Given the description of an element on the screen output the (x, y) to click on. 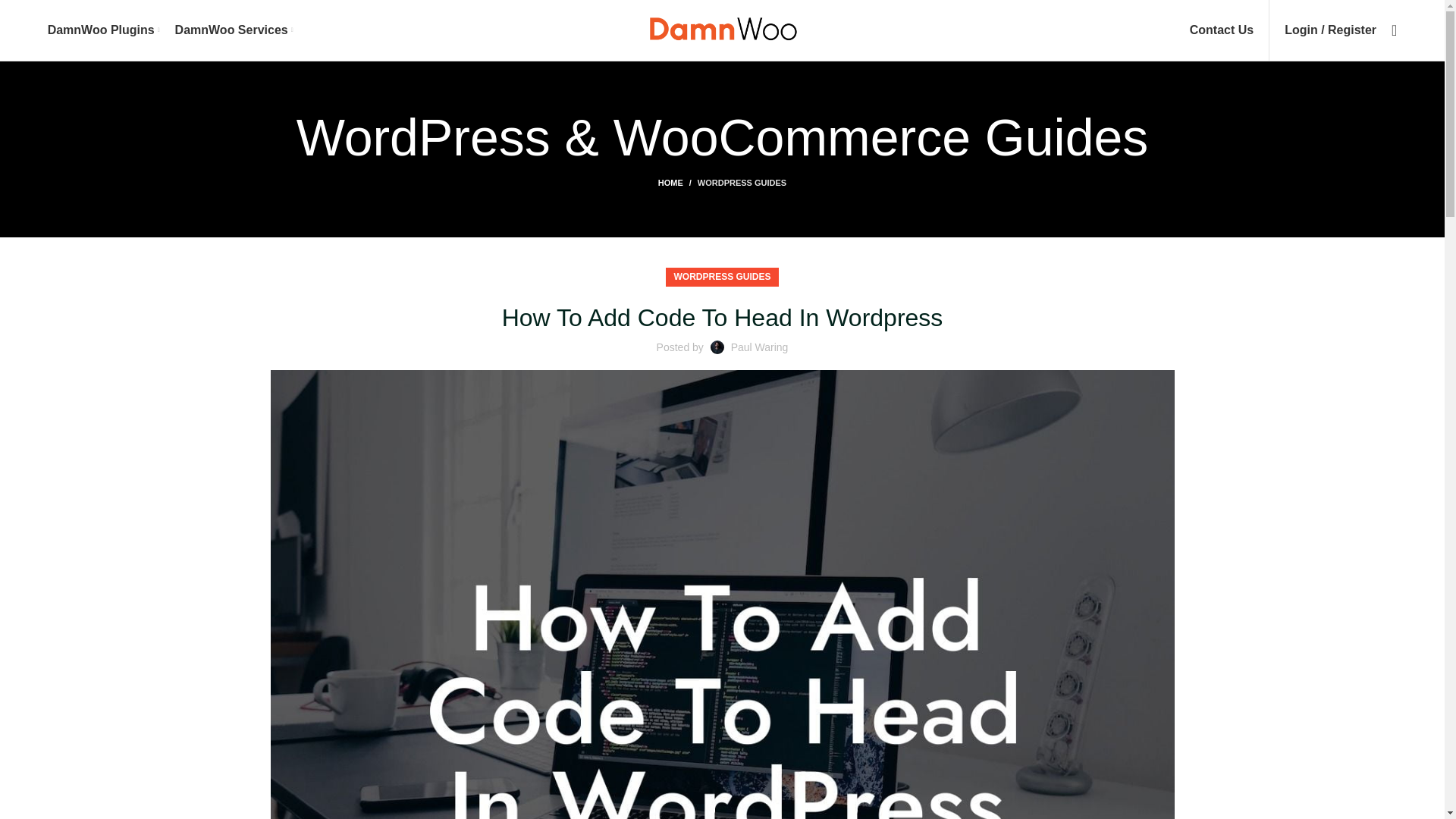
Contact Us (1221, 30)
Paul Waring (759, 346)
WORDPRESS GUIDES (721, 276)
HOME (677, 182)
WORDPRESS GUIDES (741, 182)
DamnWoo Services (234, 30)
My account (1330, 30)
DamnWoo Plugins (104, 30)
